Given the description of an element on the screen output the (x, y) to click on. 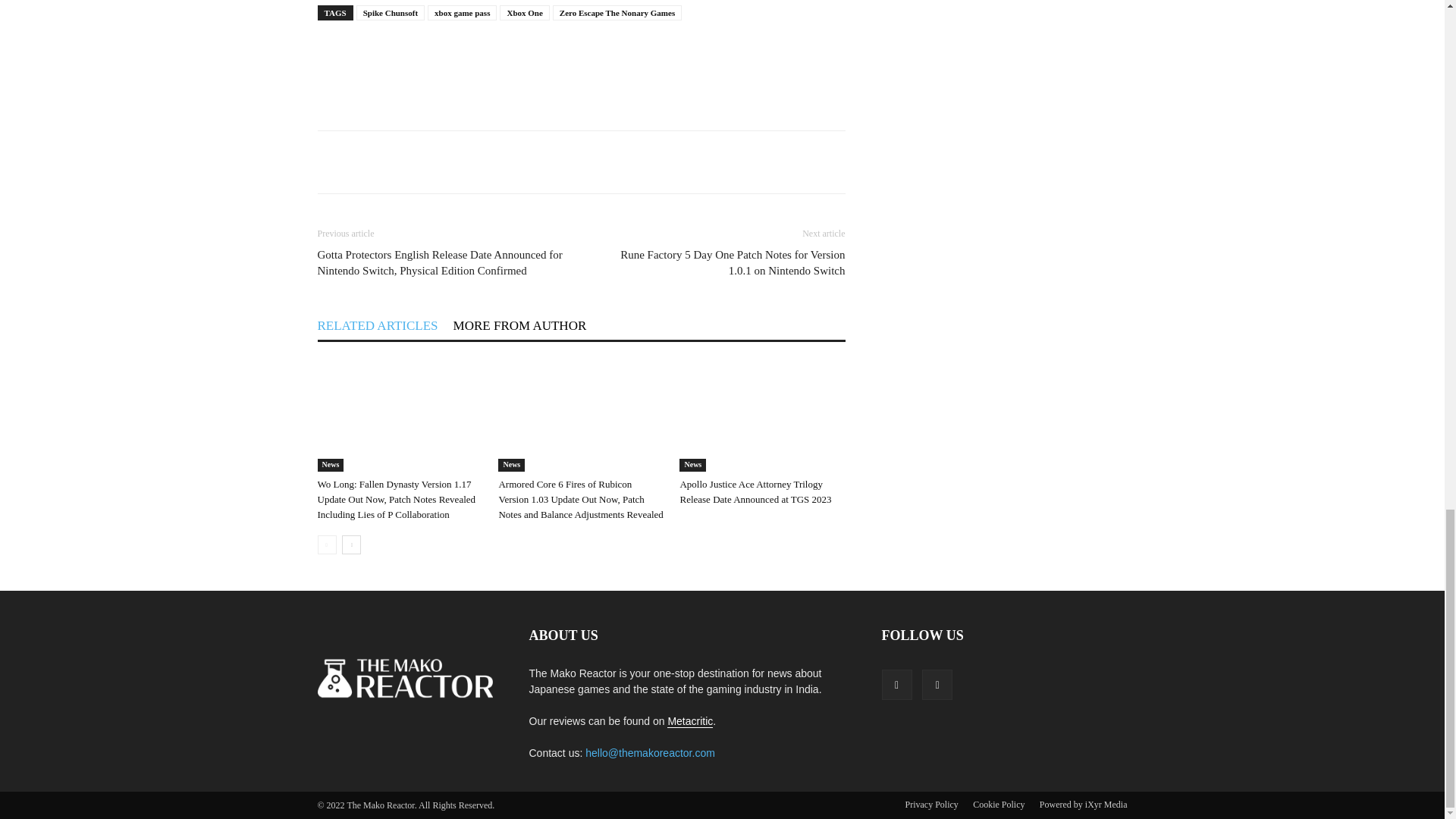
xbox game pass (462, 12)
Spike Chunsoft (390, 12)
Xbox One (523, 12)
Zero Escape The Nonary Games (617, 12)
